Given the description of an element on the screen output the (x, y) to click on. 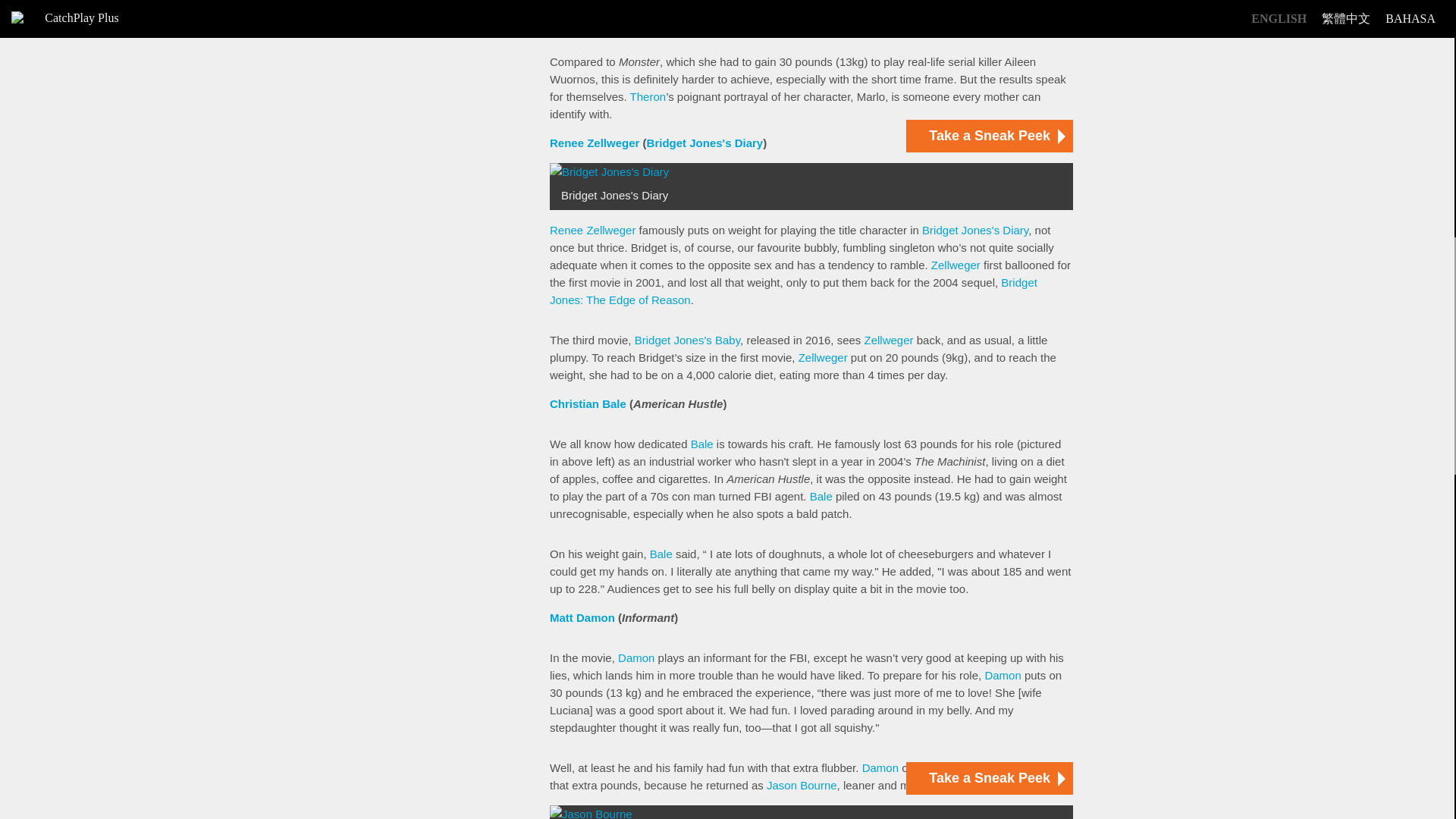
Damon (635, 657)
Bale (820, 495)
Christian Bale (588, 403)
Renee (566, 229)
Matt Damon (582, 617)
Bridget Jones's Baby (686, 339)
Renee Zellweger (594, 142)
Zellweger (822, 357)
Bale (660, 553)
Jason Bourne (802, 784)
